Given the description of an element on the screen output the (x, y) to click on. 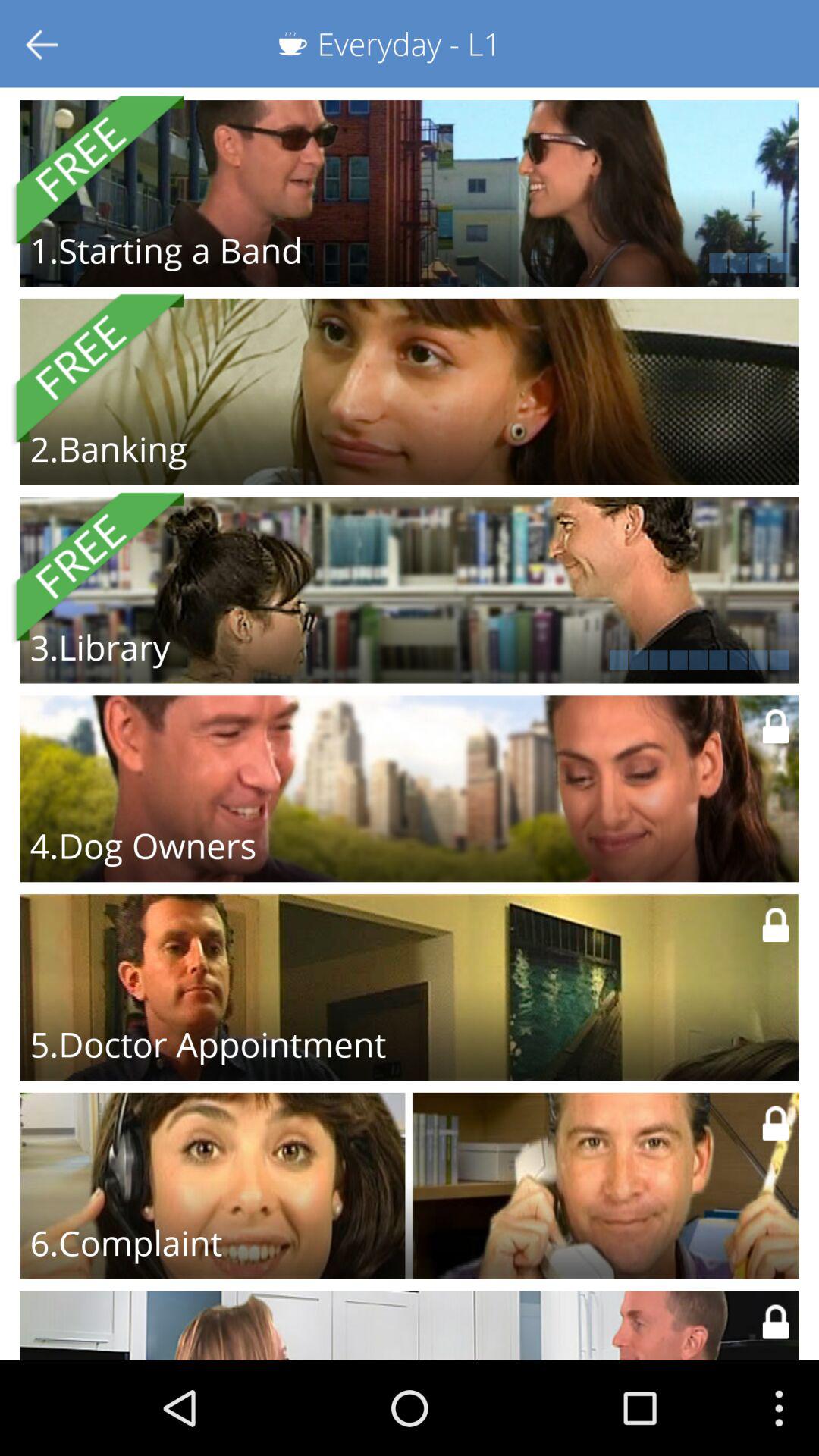
jump until 3.library item (100, 646)
